Given the description of an element on the screen output the (x, y) to click on. 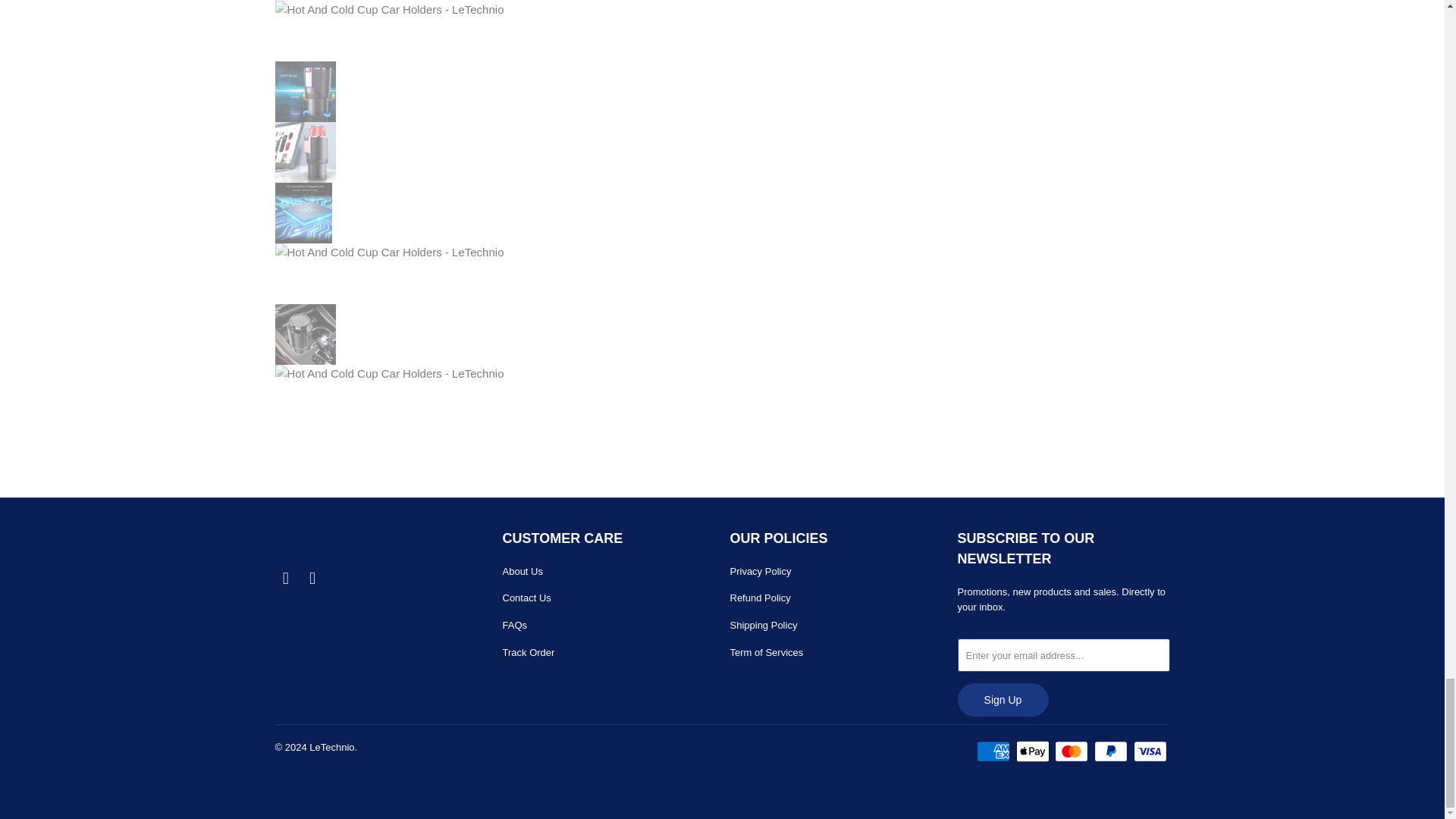
Sign Up (1002, 699)
LeTechnio on Instagram (312, 577)
Mastercard (1072, 751)
Apple Pay (1034, 751)
LeTechnio on Facebook (286, 577)
Visa (1150, 751)
American Express (994, 751)
PayPal (1112, 751)
